Given the description of an element on the screen output the (x, y) to click on. 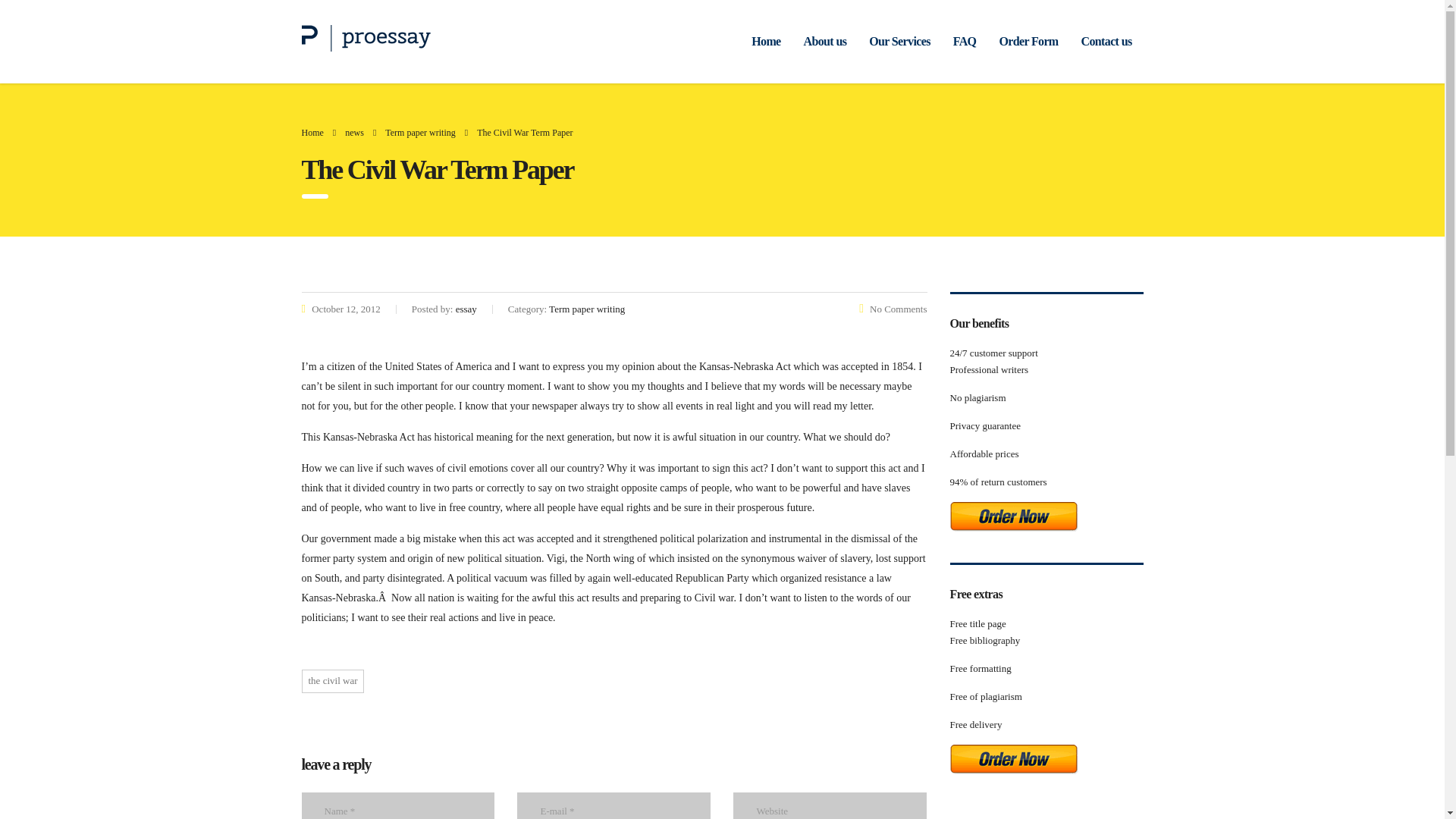
Order Form (1027, 41)
Our Services (898, 41)
Home (765, 41)
Go to news. (354, 132)
FAQ (965, 41)
Go to the Term paper writing category archives. (419, 132)
Go to Proessay.com. (312, 132)
About us (825, 41)
